Given the description of an element on the screen output the (x, y) to click on. 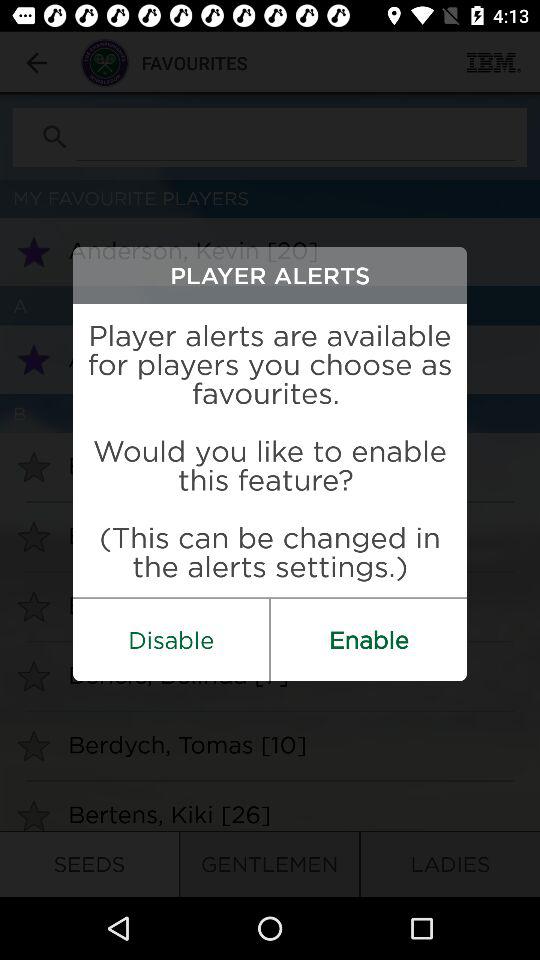
choose the item on the left (171, 639)
